Given the description of an element on the screen output the (x, y) to click on. 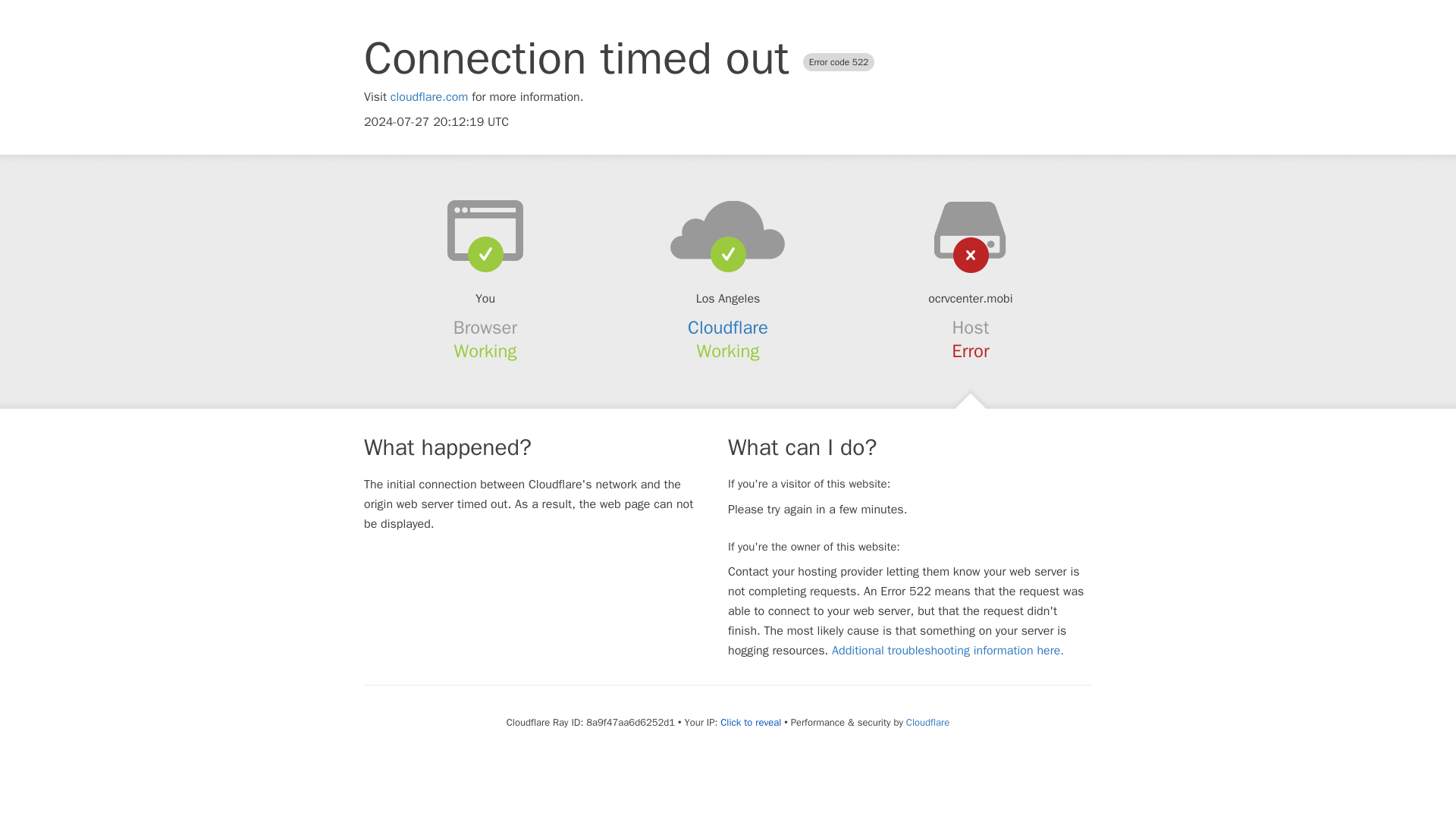
Cloudflare (927, 721)
Additional troubleshooting information here. (947, 650)
Cloudflare (727, 327)
cloudflare.com (429, 96)
Click to reveal (750, 722)
